Given the description of an element on the screen output the (x, y) to click on. 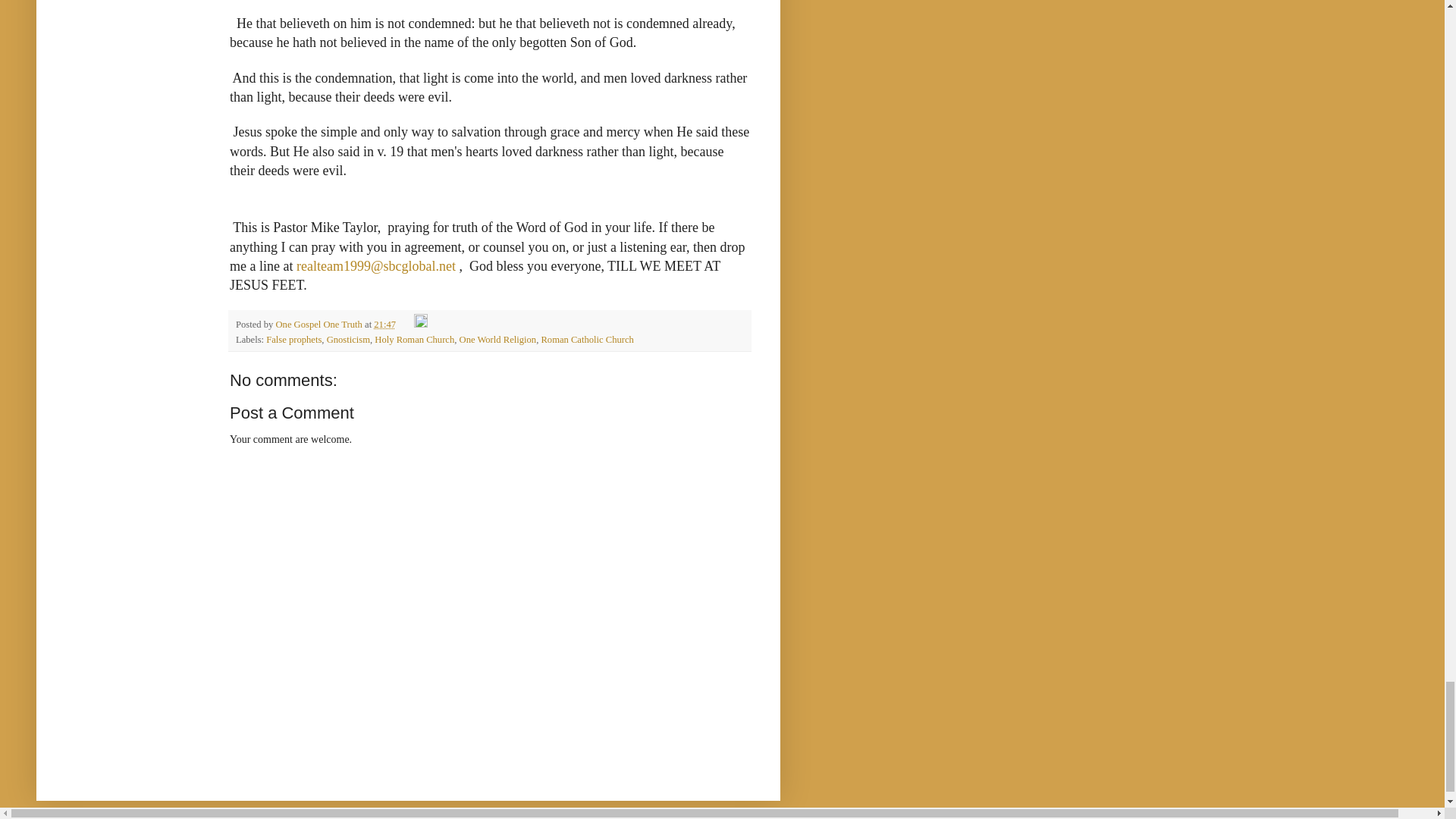
One World Religion (498, 339)
One Gospel One Truth (320, 324)
permanent link (385, 324)
author profile (320, 324)
False prophets (293, 339)
21:47 (385, 324)
Holy Roman Church (414, 339)
Email Post (405, 324)
Roman Catholic Church (586, 339)
Gnosticism (347, 339)
